Given the description of an element on the screen output the (x, y) to click on. 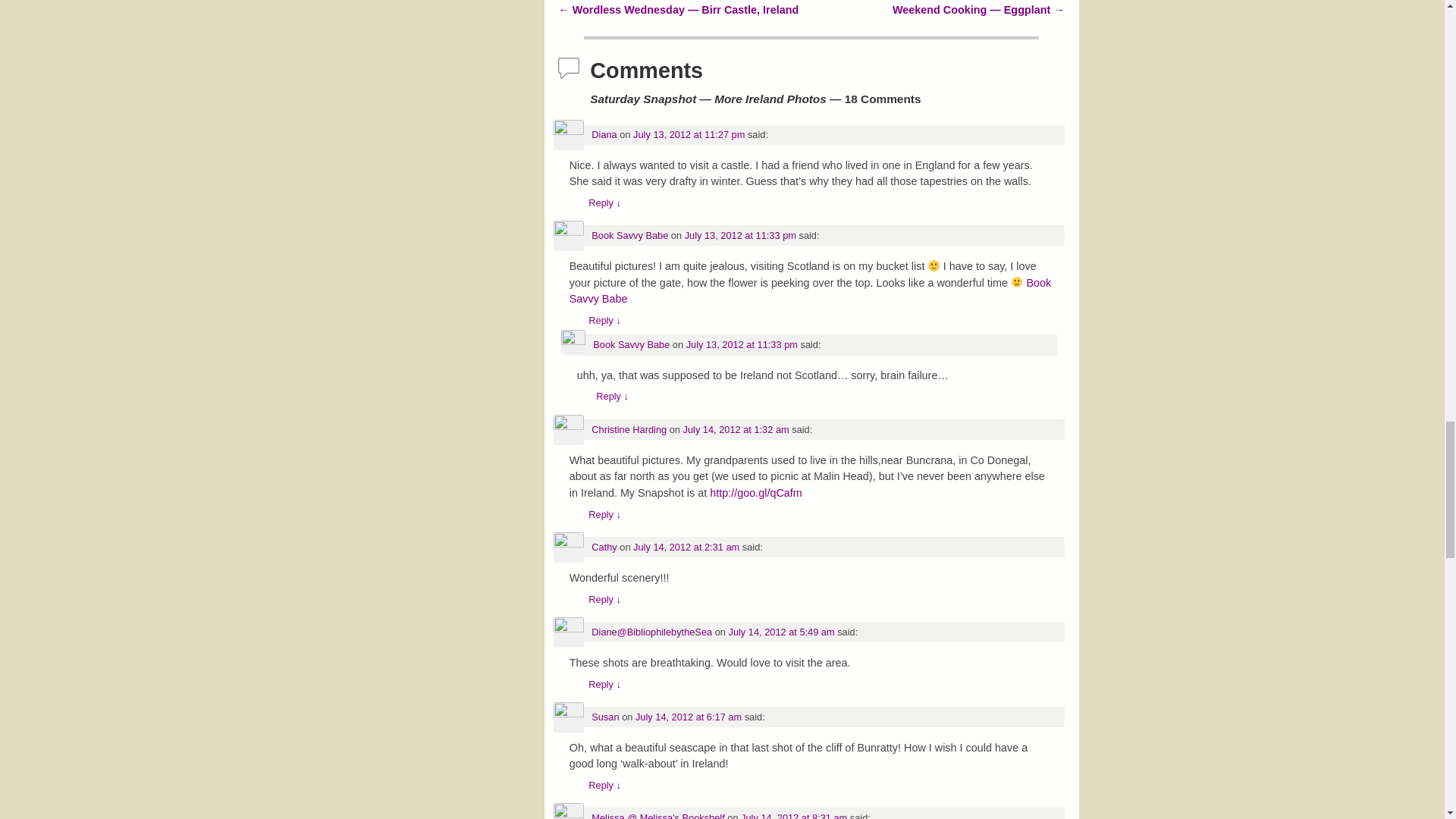
Diana (603, 134)
Book Savvy Babe (629, 235)
July 13, 2012 at 11:27 pm (688, 134)
July 13, 2012 at 11:33 pm (740, 235)
